Given the description of an element on the screen output the (x, y) to click on. 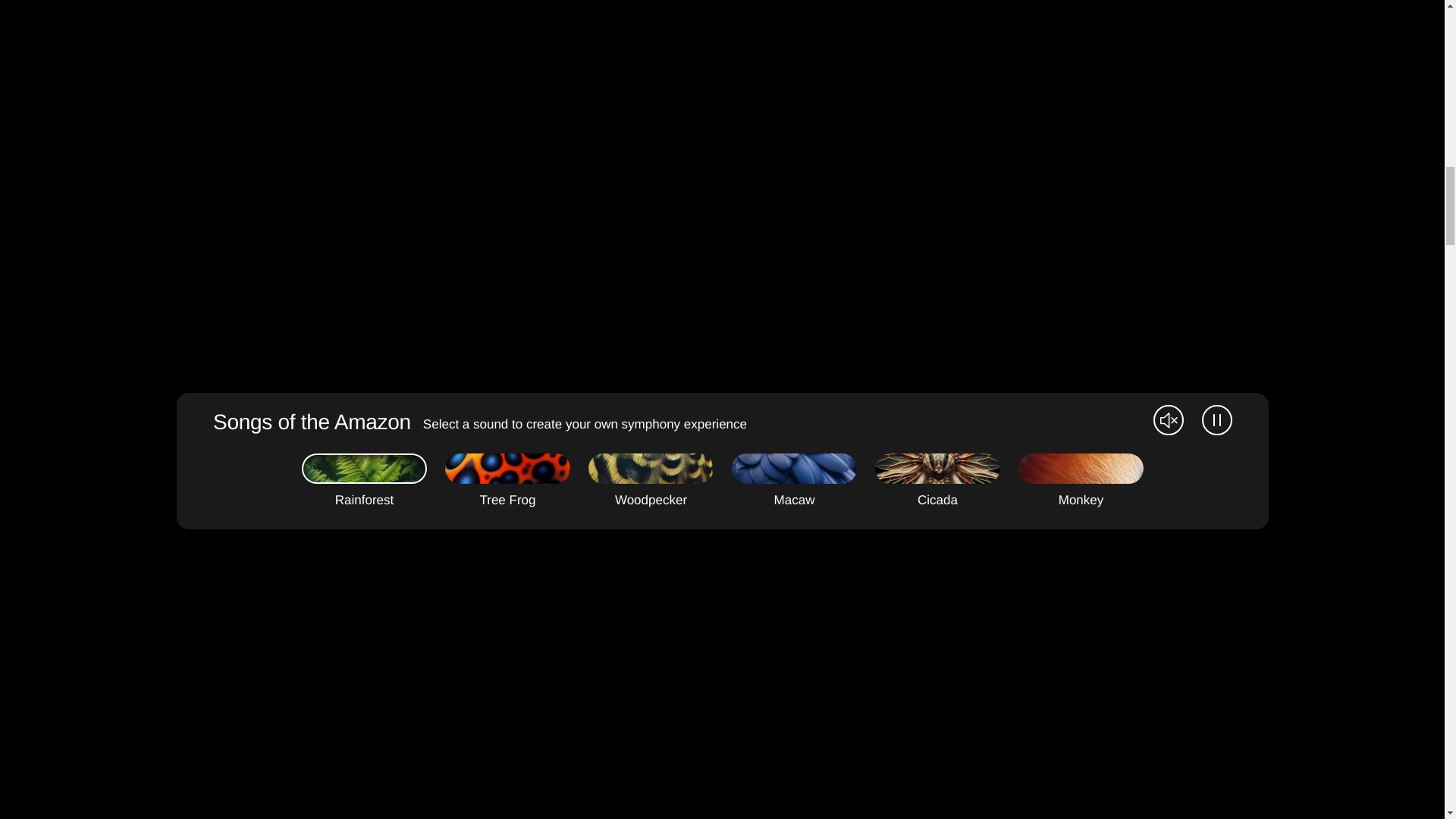
on (1079, 468)
on (937, 468)
on (650, 468)
on (506, 468)
on (793, 468)
on (363, 468)
